Given the description of an element on the screen output the (x, y) to click on. 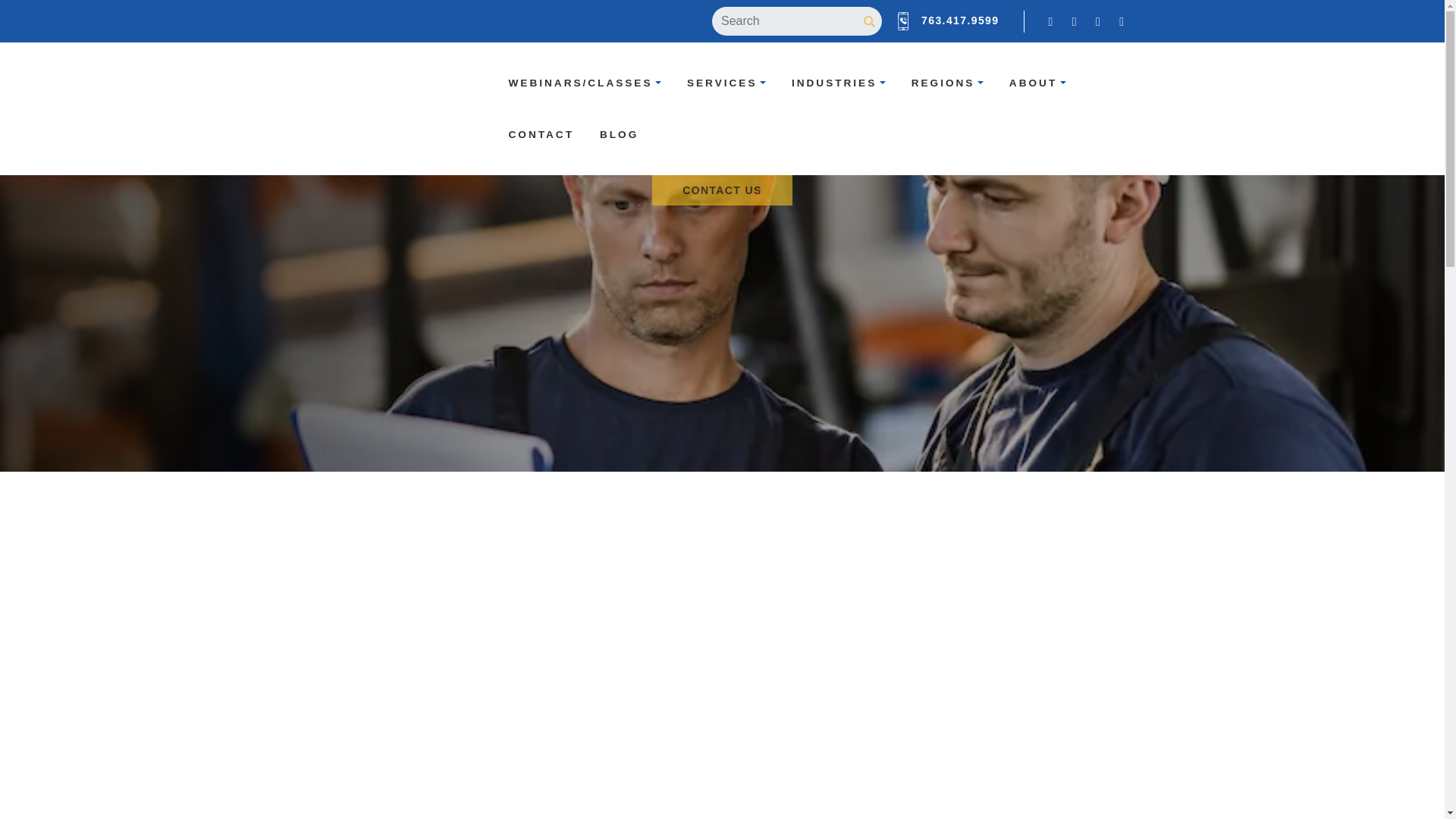
SERVICES (726, 82)
REGIONS (946, 82)
763.417.9599 (958, 20)
ABOUT (1036, 82)
Search Now (869, 20)
Search Now (869, 20)
Services (726, 82)
Industries (838, 82)
INDUSTRIES (838, 82)
